Given the description of an element on the screen output the (x, y) to click on. 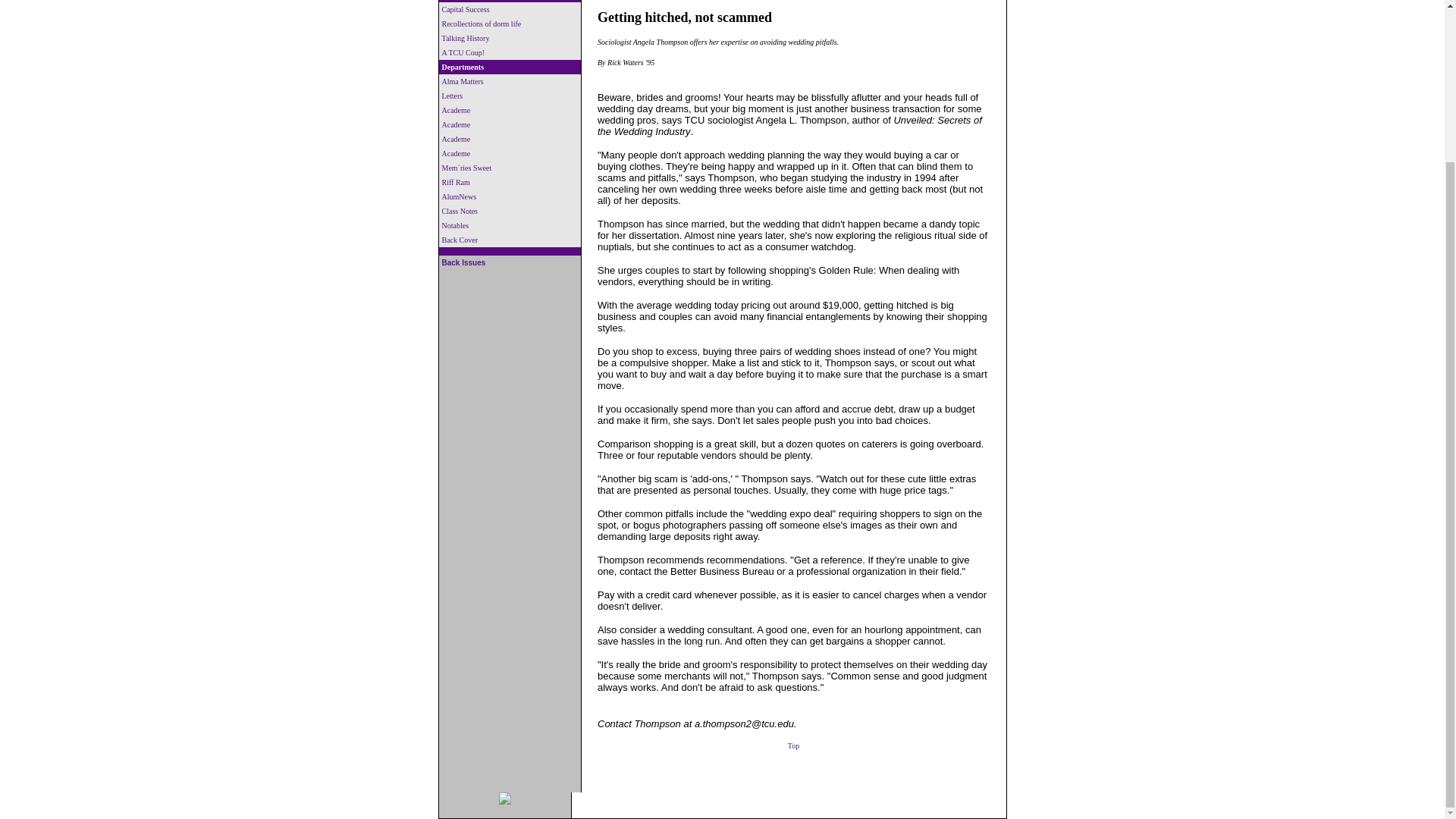
AlumNews (458, 196)
Recollections of dorm life (481, 23)
Alma Matters (462, 80)
Talking History (465, 38)
Top (793, 745)
Back Issues (462, 262)
Academe (455, 124)
Capital Success (465, 8)
Academe (455, 139)
Academe (455, 153)
